Given the description of an element on the screen output the (x, y) to click on. 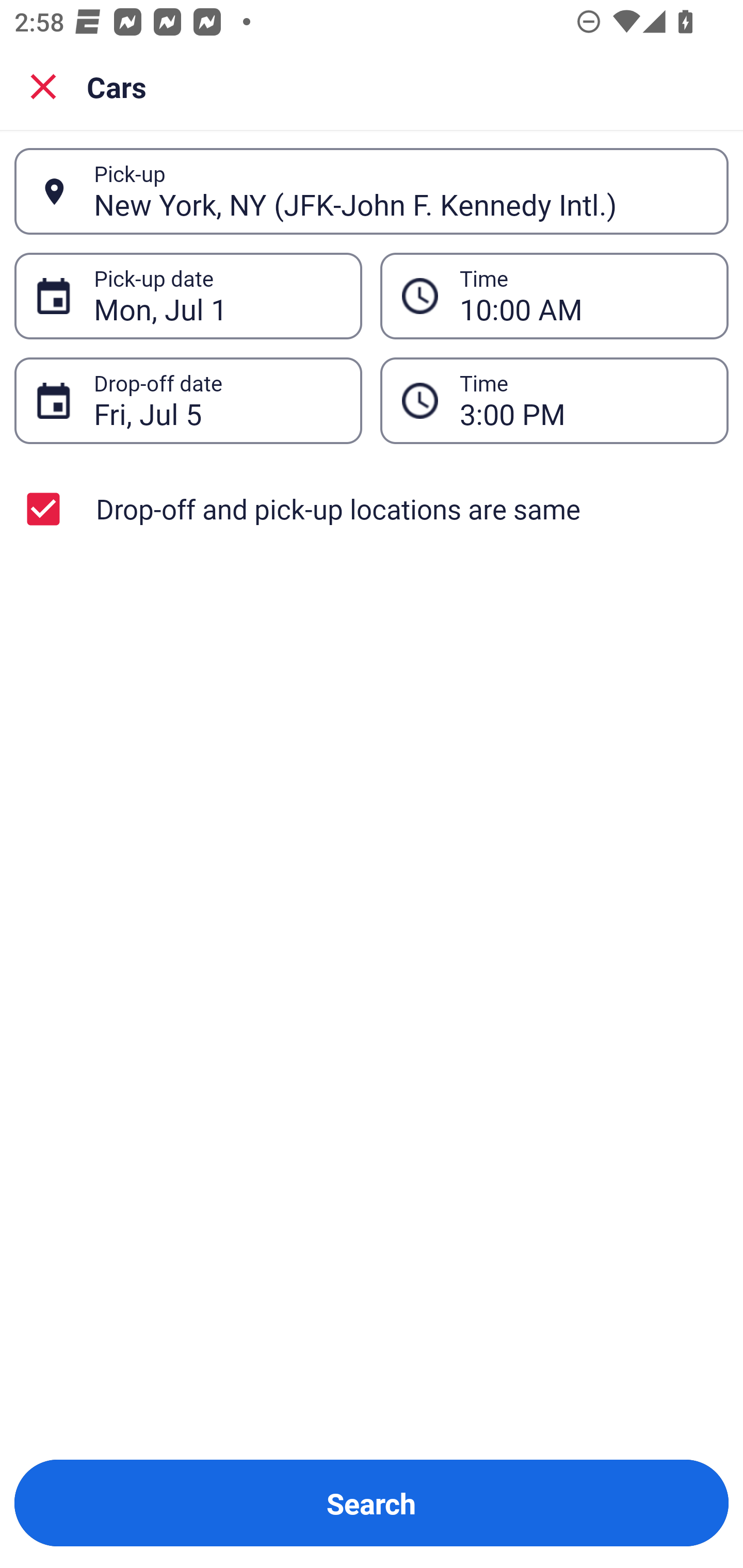
Close search screen (43, 86)
New York, NY (JFK-John F. Kennedy Intl.) Pick-up (371, 191)
New York, NY (JFK-John F. Kennedy Intl.) (399, 191)
Mon, Jul 1 Pick-up date (188, 295)
10:00 AM (554, 295)
Mon, Jul 1 (216, 296)
10:00 AM (582, 296)
Fri, Jul 5 Drop-off date (188, 400)
3:00 PM (554, 400)
Fri, Jul 5 (216, 400)
3:00 PM (582, 400)
Drop-off and pick-up locations are same (371, 508)
Search Button Search (371, 1502)
